Given the description of an element on the screen output the (x, y) to click on. 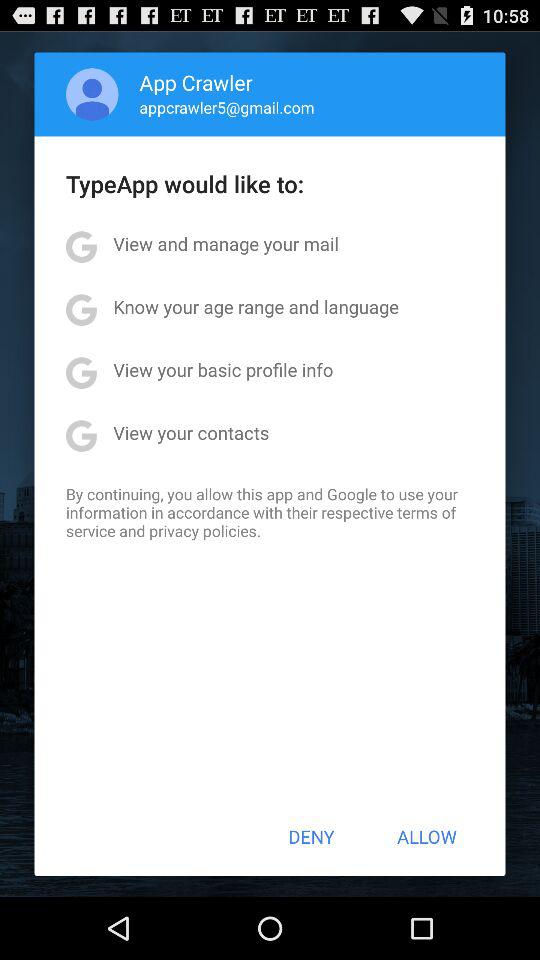
press item above the typeapp would like item (92, 94)
